Given the description of an element on the screen output the (x, y) to click on. 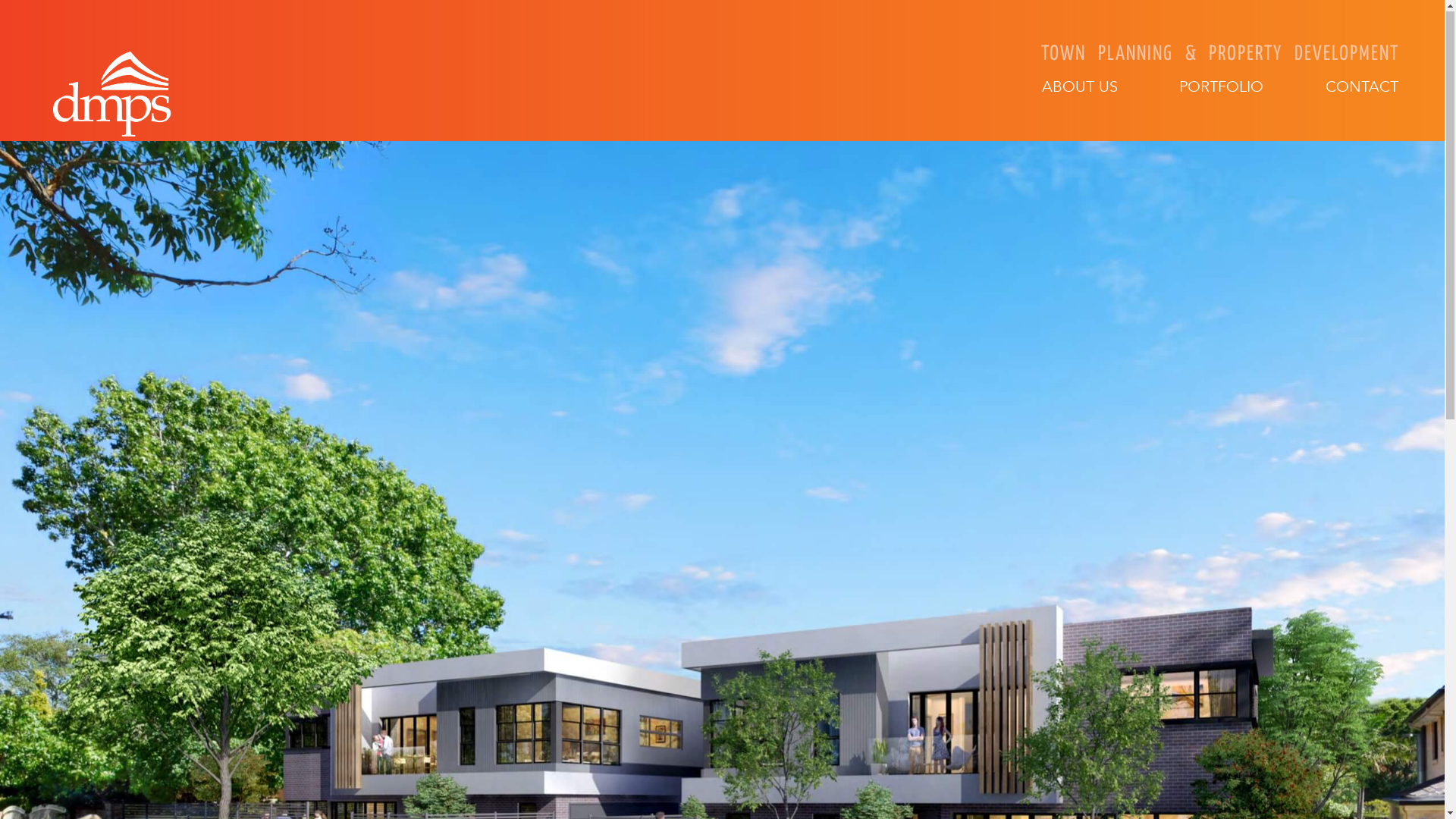
  Element type: text (1398, 122)
CONTACT Element type: text (1361, 88)
PORTFOLIO Element type: text (1221, 88)
ABOUT US Element type: text (1079, 88)
Go! Element type: text (37, 14)
